Given the description of an element on the screen output the (x, y) to click on. 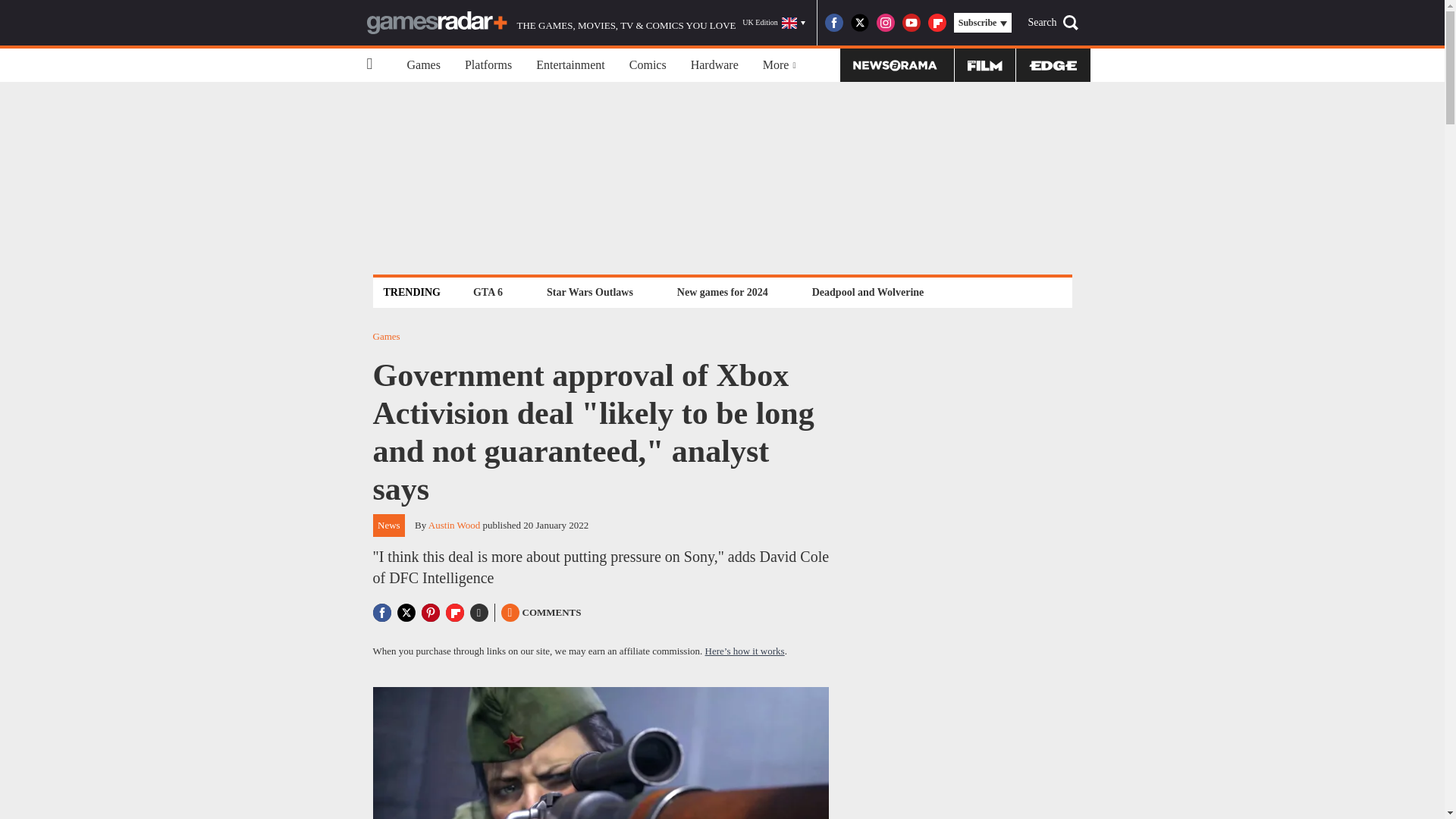
Deadpool and Wolverine (868, 292)
Star Wars Outlaws (590, 292)
GTA 6 (487, 292)
UK Edition (773, 22)
Hardware (714, 64)
Entertainment (570, 64)
New games for 2024 (722, 292)
Comics (647, 64)
Games (422, 64)
Platforms (488, 64)
